Given the description of an element on the screen output the (x, y) to click on. 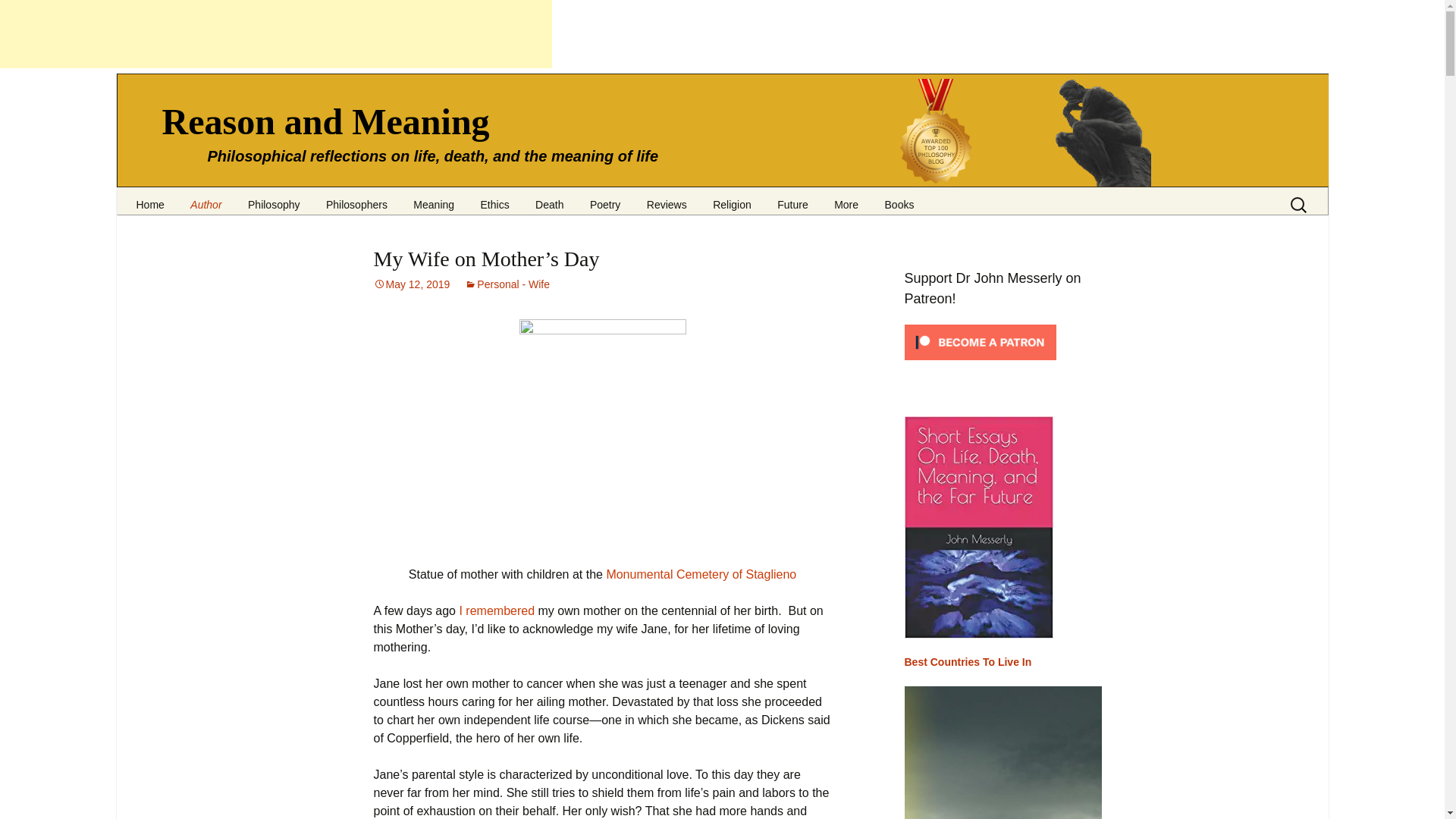
Advertisement (275, 33)
Home (148, 199)
How To Help (254, 221)
Author (205, 199)
